Given the description of an element on the screen output the (x, y) to click on. 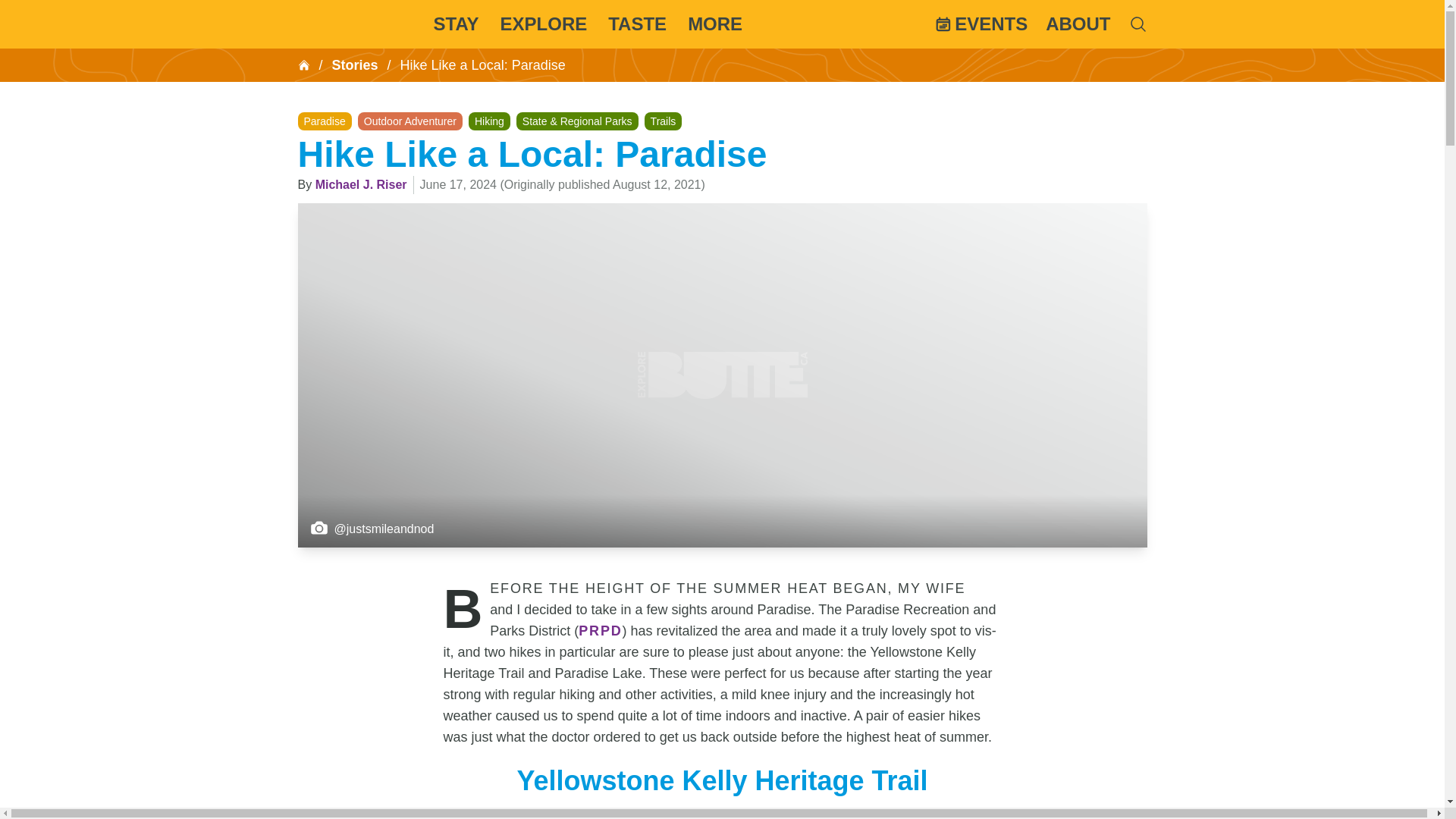
MORE (714, 24)
TASTE (637, 24)
EXPLORE (544, 24)
Explore Butte County (353, 24)
STAY (456, 24)
ABOUT (1077, 24)
EVENTS (980, 24)
